Given the description of an element on the screen output the (x, y) to click on. 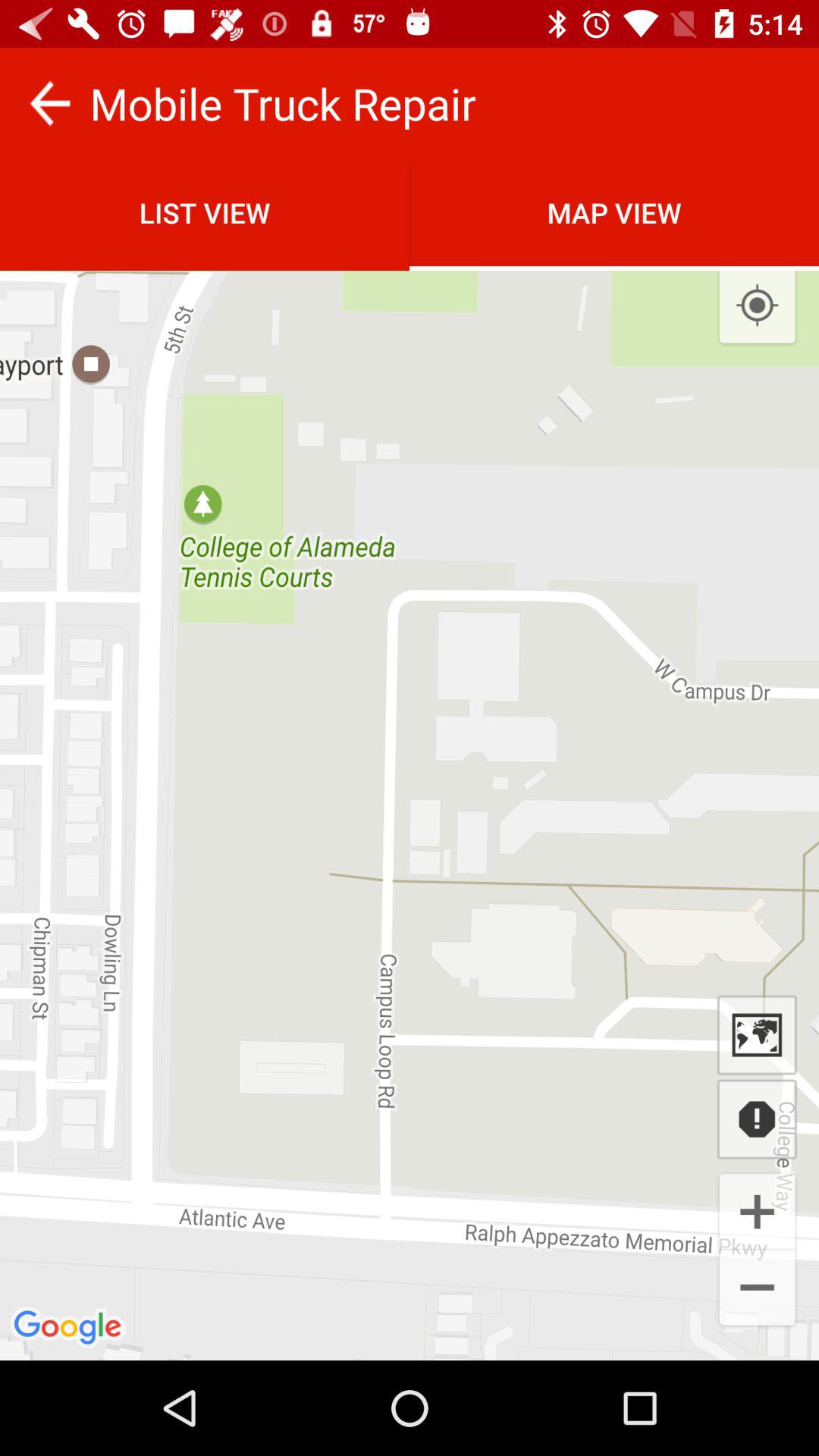
swipe to list view item (204, 212)
